Given the description of an element on the screen output the (x, y) to click on. 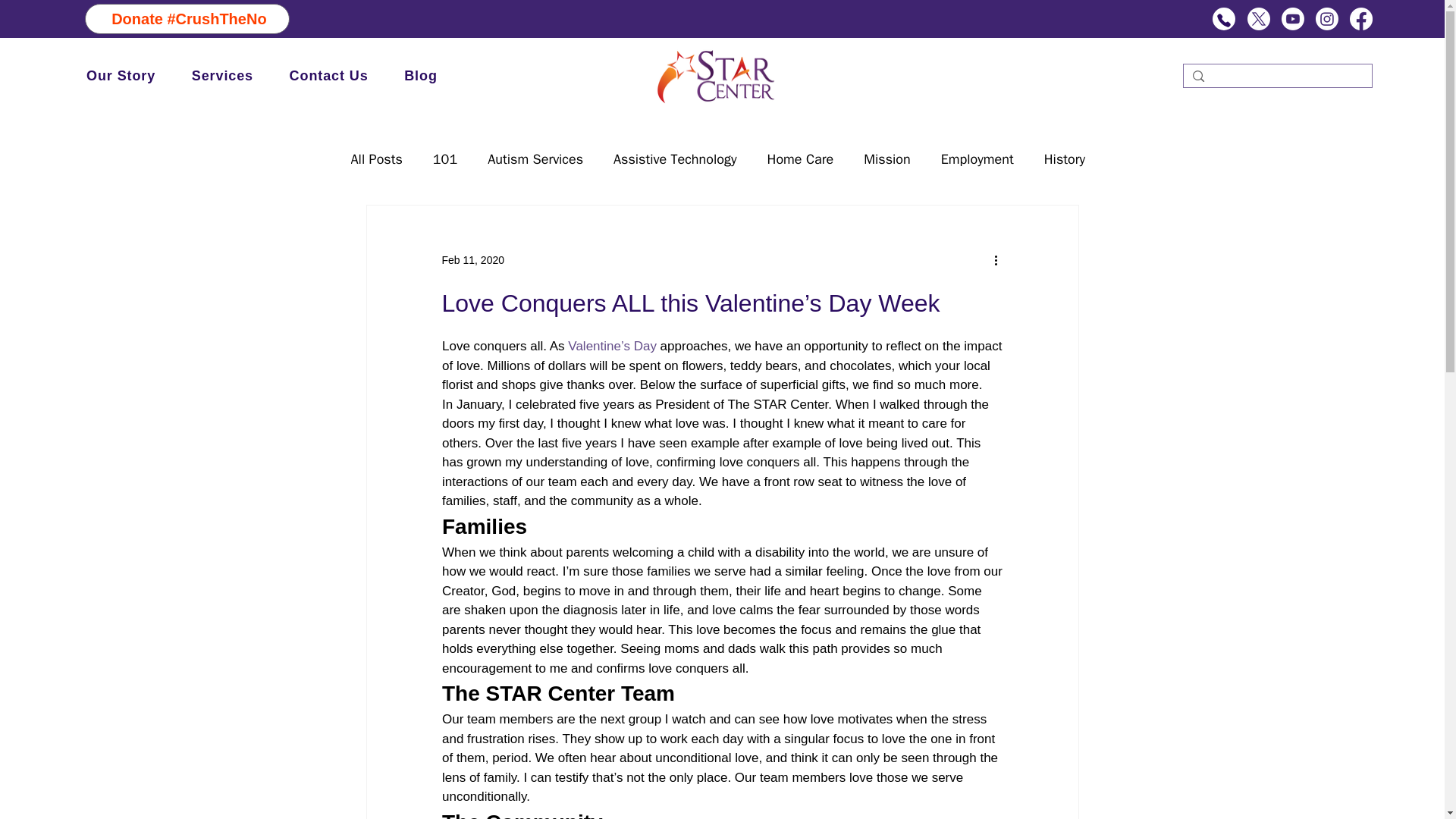
History (1063, 158)
Assistive Technology (674, 158)
Feb 11, 2020 (472, 259)
Home Care (800, 158)
Contact Us (328, 75)
Mission (886, 158)
Our Story (121, 75)
All Posts (375, 158)
Employment (976, 158)
Blog (420, 75)
Autism Services (535, 158)
101 (444, 158)
